Given the description of an element on the screen output the (x, y) to click on. 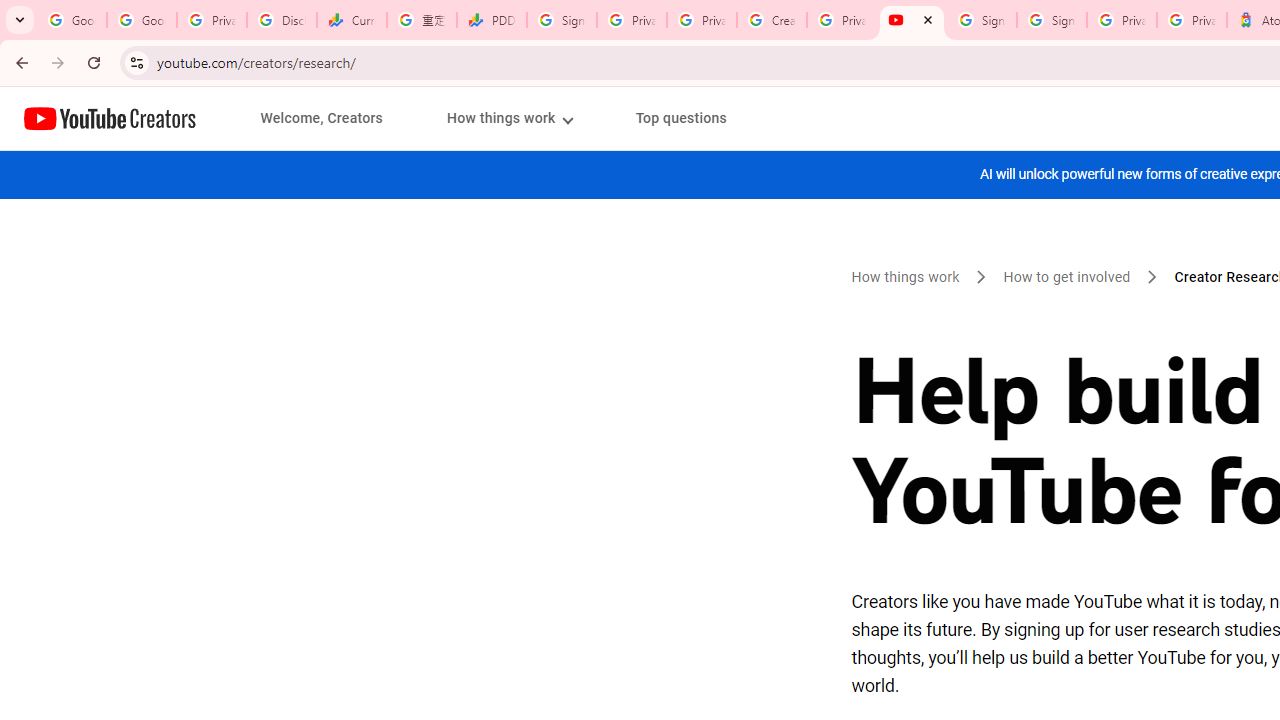
Sign in - Google Accounts (1051, 20)
Welcome, Creators (321, 118)
Sign in - Google Accounts (982, 20)
Sign in - Google Accounts (561, 20)
